Given the description of an element on the screen output the (x, y) to click on. 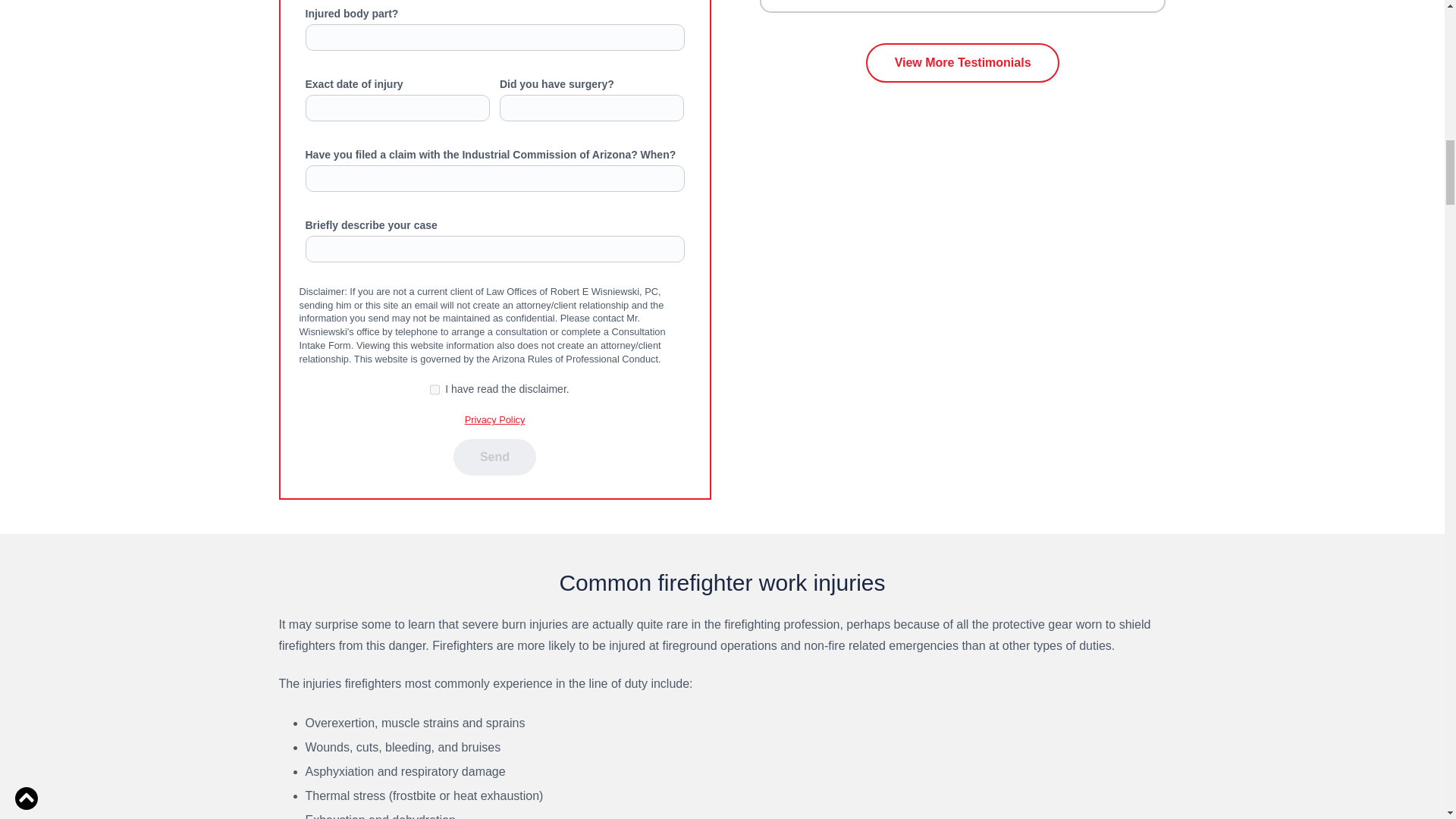
I have read the disclaimer. (434, 389)
Send (494, 456)
